Given the description of an element on the screen output the (x, y) to click on. 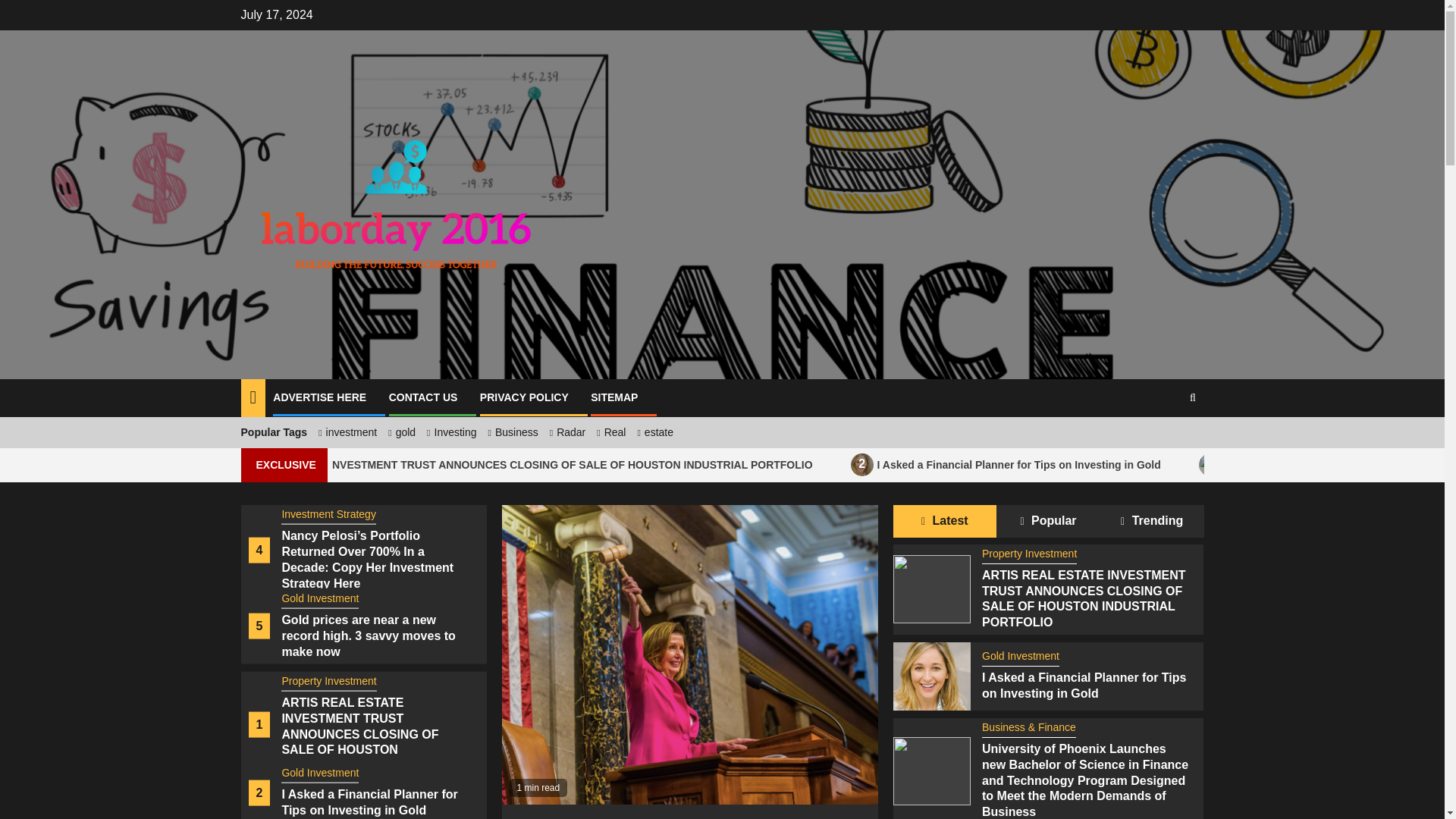
Search (1163, 443)
CONTACT US (1133, 464)
Real (423, 397)
Business (609, 431)
ADVERTISE HERE (511, 431)
estate (319, 397)
Radar (652, 431)
investment (566, 431)
gold (345, 431)
PRIVACY POLICY (399, 431)
Investing (524, 397)
SITEMAP (449, 431)
